Given the description of an element on the screen output the (x, y) to click on. 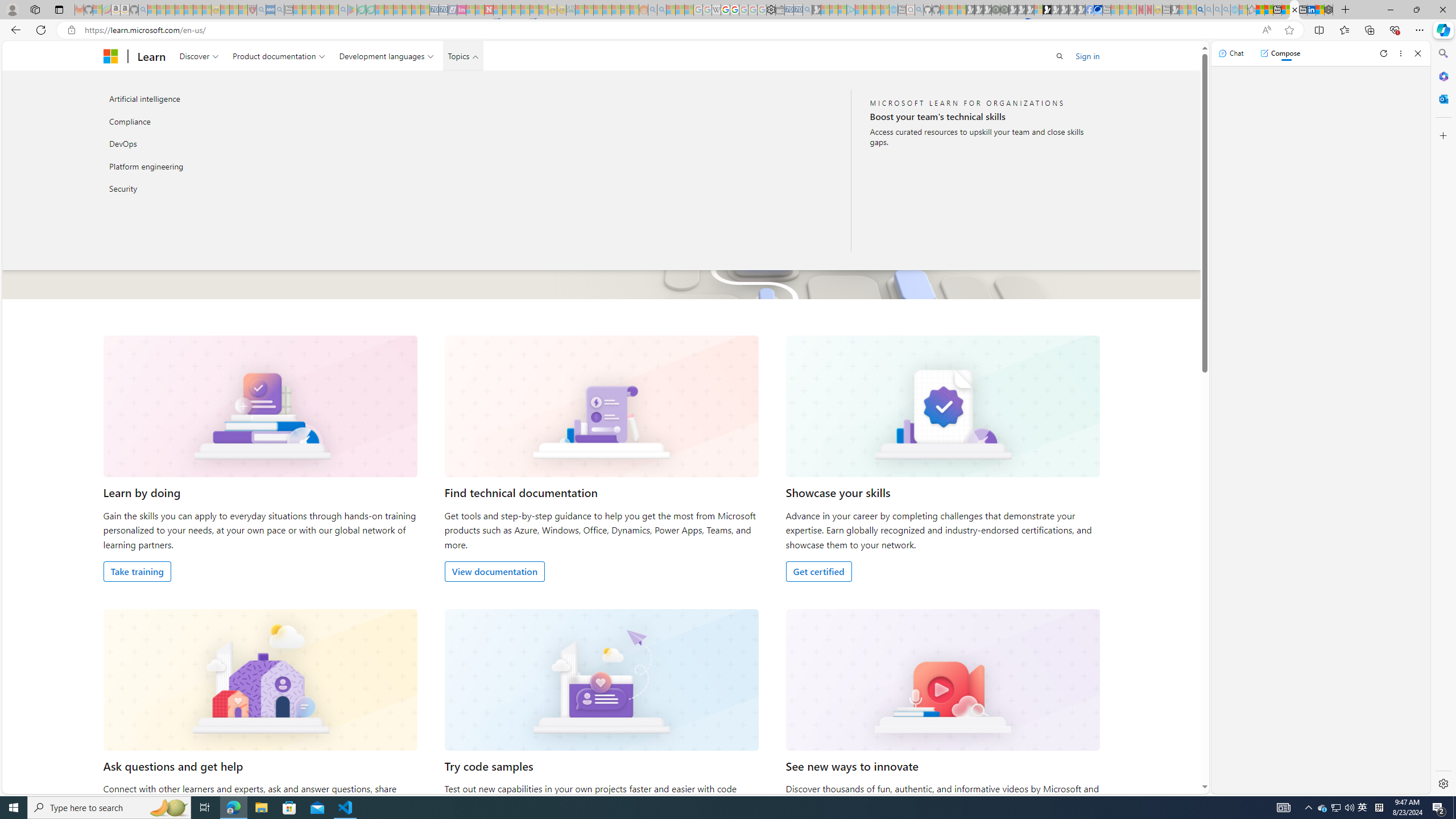
Future Focus Report 2024 - Sleeping (1004, 9)
Development languages (386, 55)
